Given the description of an element on the screen output the (x, y) to click on. 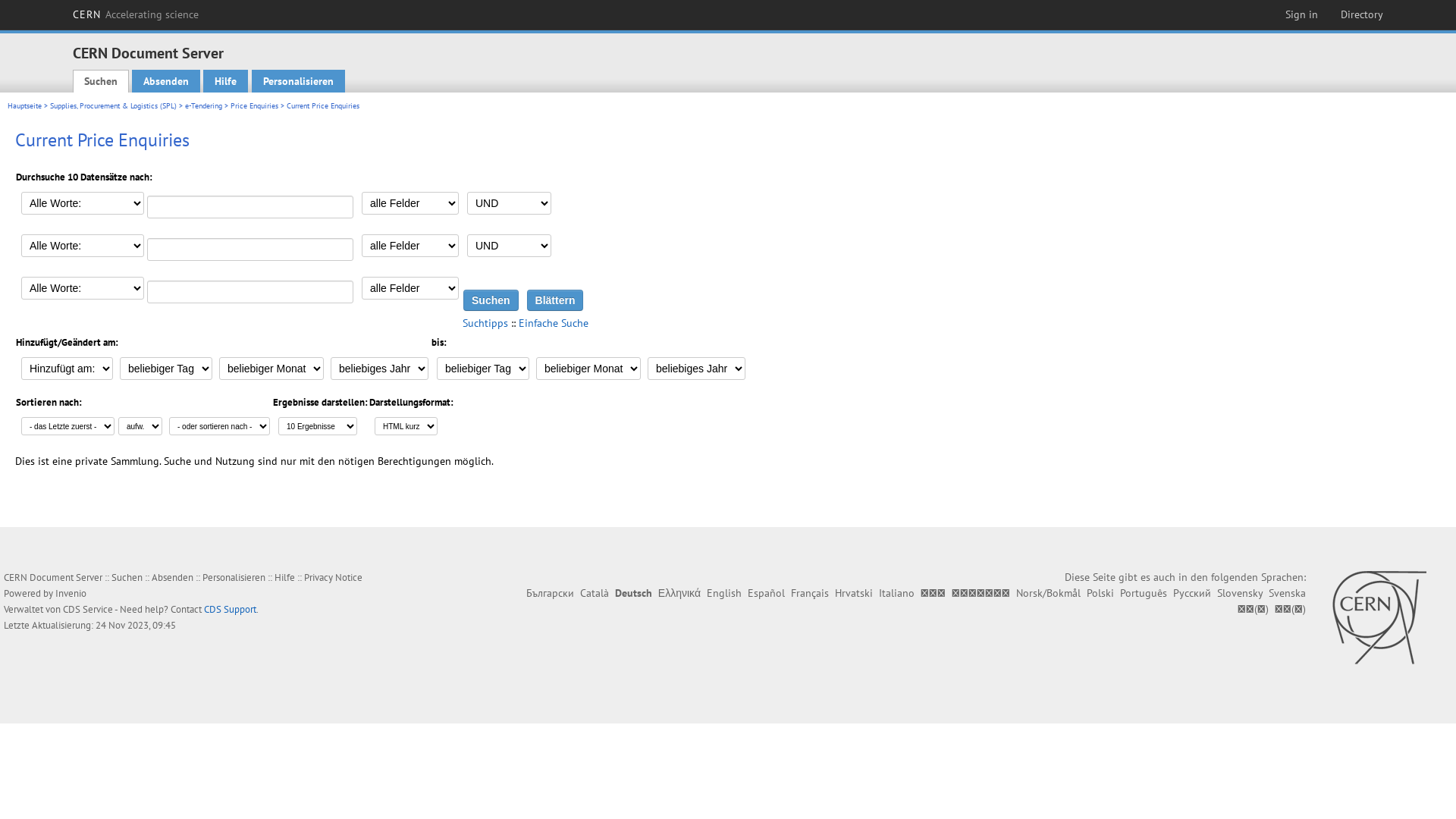
Suchen Element type: text (100, 80)
Personalisieren Element type: text (233, 577)
Italiano Element type: text (896, 592)
Hilfe Element type: text (284, 577)
English Element type: text (723, 592)
CERN Element type: hover (1378, 617)
Suchtipps Element type: text (485, 322)
Absenden Element type: text (172, 577)
Einfache Suche Element type: text (553, 322)
Hrvatski Element type: text (853, 592)
Hilfe Element type: text (225, 80)
Suchen Element type: text (490, 299)
Polski Element type: text (1099, 592)
Invenio Element type: text (70, 592)
Suchen Element type: text (126, 577)
Hauptseite Element type: text (24, 105)
Price Enquiries Element type: text (254, 105)
Personalisieren Element type: text (298, 80)
Privacy Notice Element type: text (333, 577)
CDS Service Element type: text (87, 608)
CERN Document Server Element type: text (147, 52)
e-Tendering Element type: text (203, 105)
Svenska Element type: text (1286, 592)
Absenden Element type: text (165, 80)
Sign in Element type: text (1301, 14)
Slovensky Element type: text (1239, 592)
Supplies, Procurement & Logistics (SPL) Element type: text (113, 105)
Directory Element type: text (1361, 14)
CERN Accelerating science Element type: text (135, 14)
CDS Support Element type: text (229, 608)
